Given the description of an element on the screen output the (x, y) to click on. 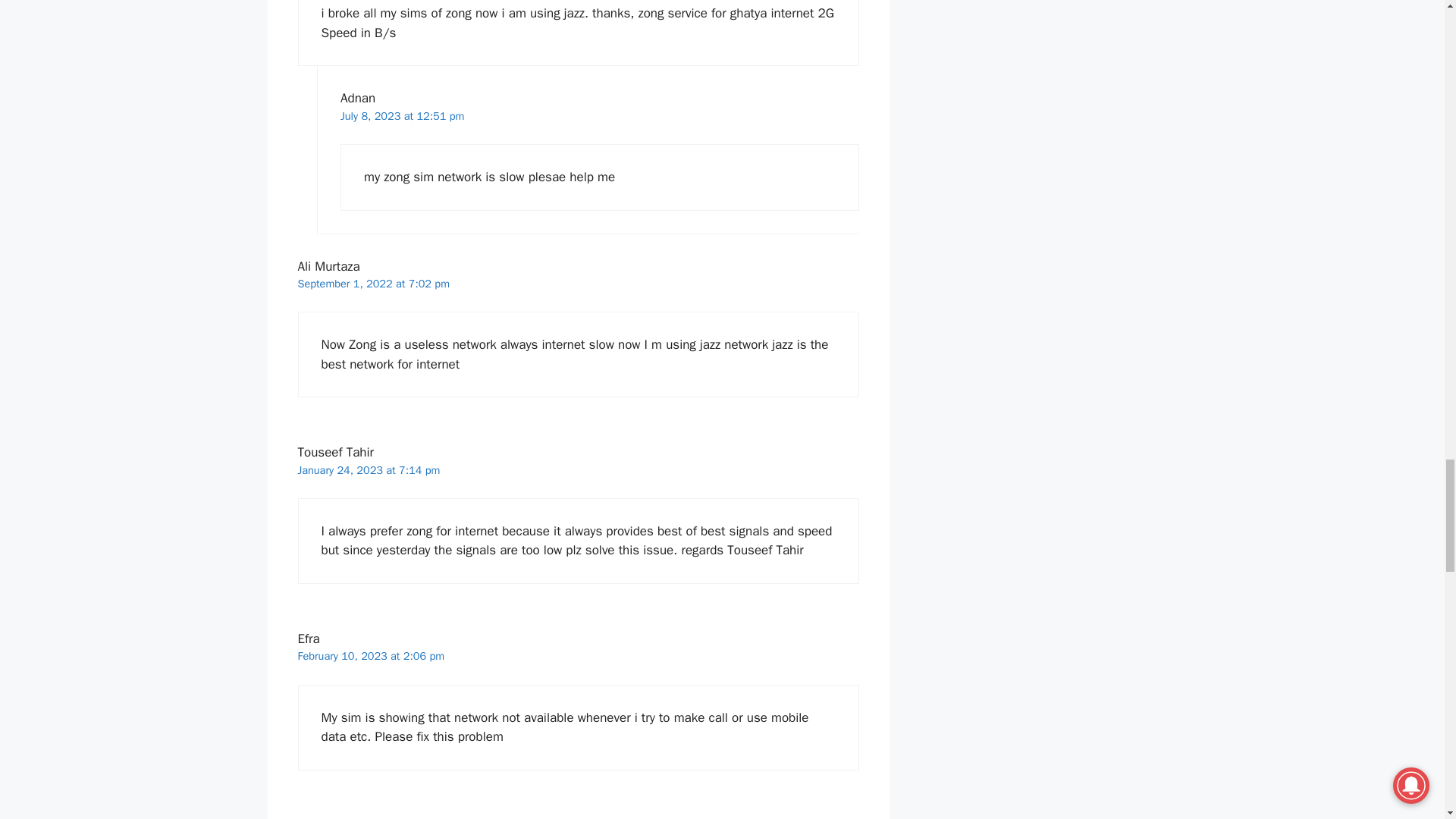
January 24, 2023 at 7:14 pm (368, 469)
July 8, 2023 at 12:51 pm (402, 115)
February 10, 2023 at 2:06 pm (370, 655)
September 1, 2022 at 7:02 pm (372, 283)
